Given the description of an element on the screen output the (x, y) to click on. 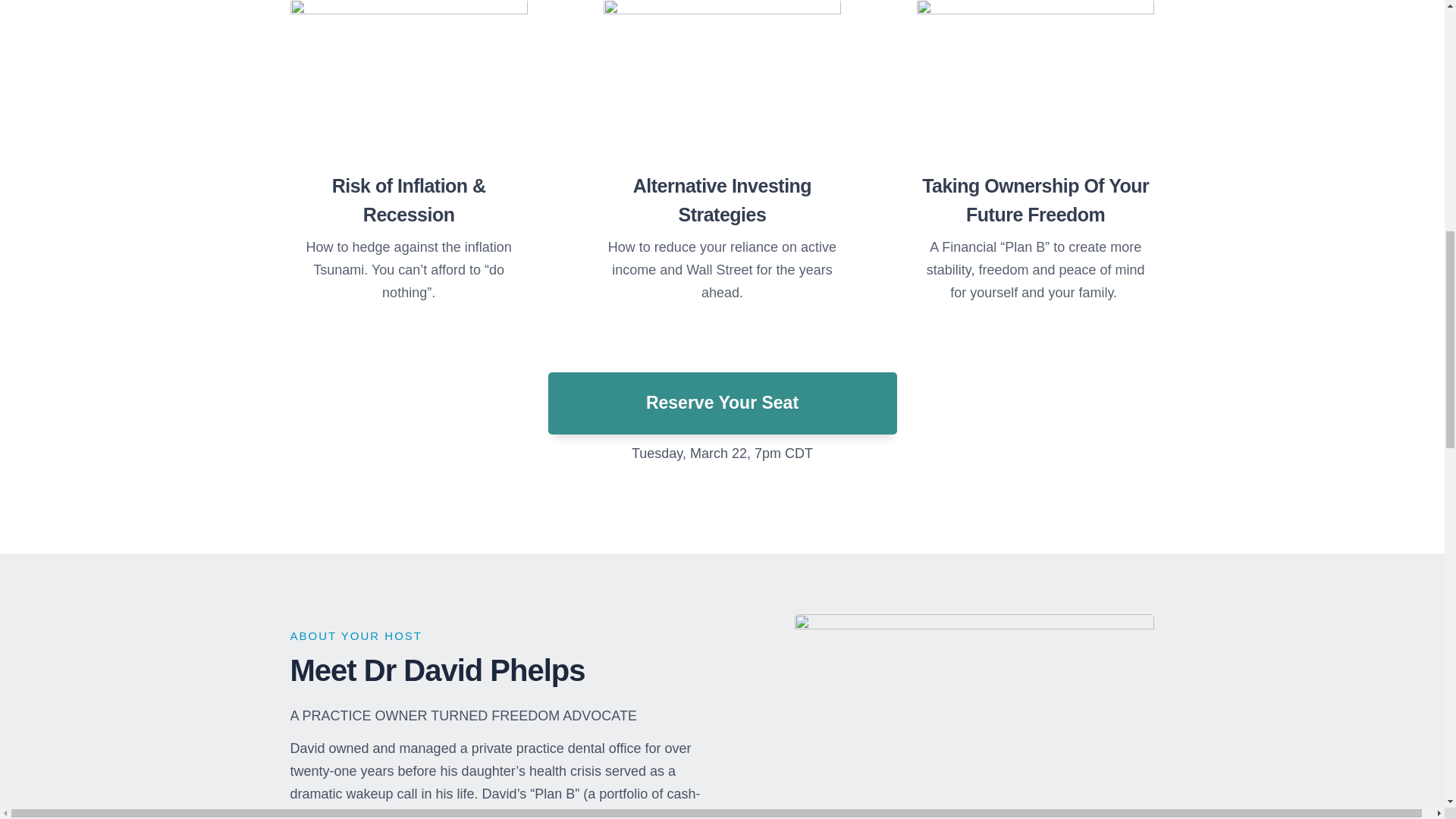
dr-david-phelps-freedom-founders (974, 716)
WebsiteBackground-Sailboat (1035, 78)
photo-1593642532842-98d0fd5ebc1a (722, 78)
Reserve Your Seat (721, 403)
Market Cycles (408, 78)
